Given the description of an element on the screen output the (x, y) to click on. 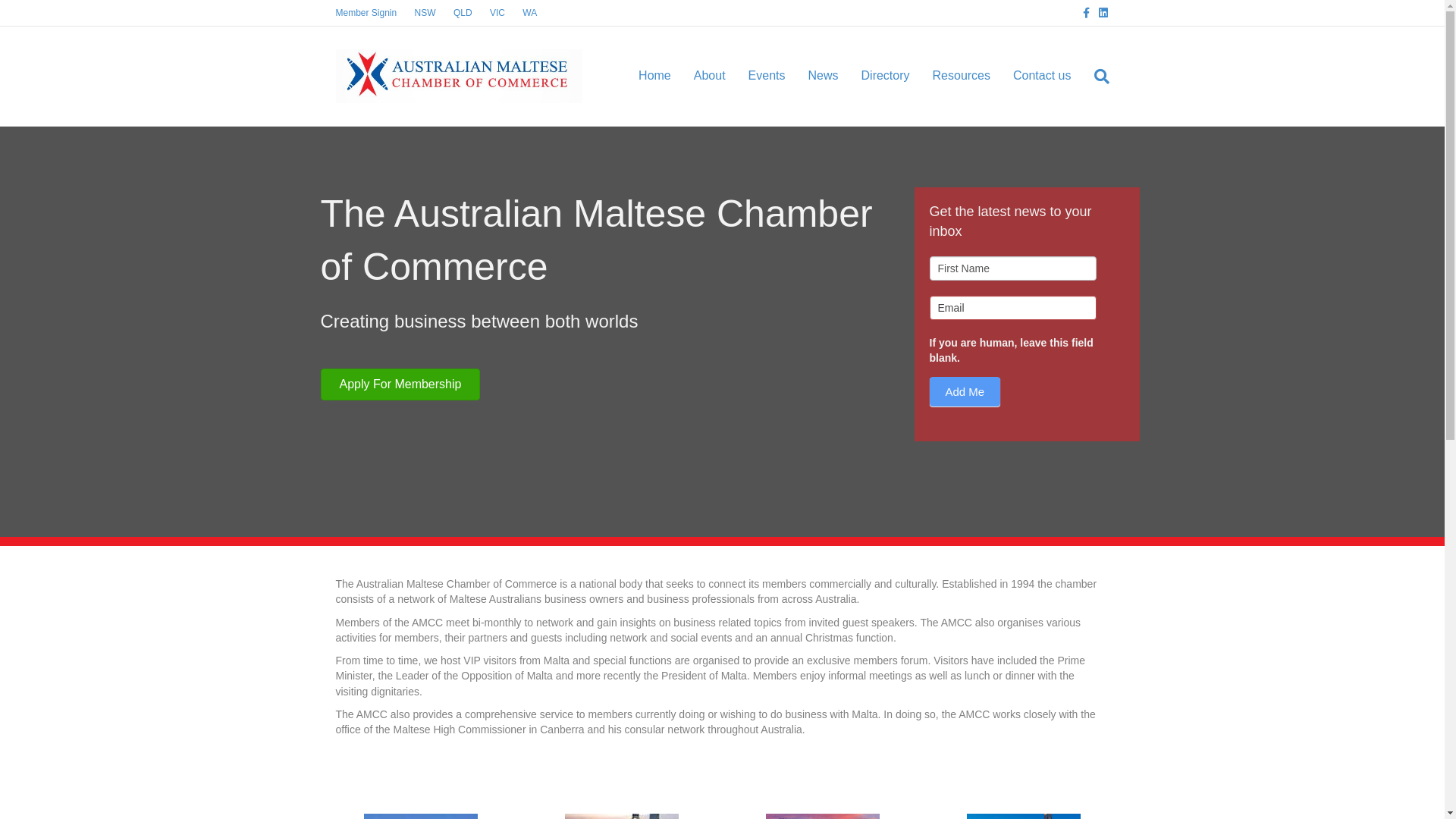
Contact us Element type: text (1041, 75)
QLD Element type: text (462, 12)
Events Element type: text (767, 75)
Member Signin Element type: text (365, 12)
WA Element type: text (529, 12)
Home Element type: text (654, 75)
News Element type: text (822, 75)
VIC Element type: text (497, 12)
Directory Element type: text (885, 75)
Linkedin Element type: text (1097, 11)
About Element type: text (709, 75)
Resources Element type: text (961, 75)
Add Me Element type: text (965, 391)
NSW Element type: text (425, 12)
Facebook Element type: text (1079, 11)
Apply For Membership Element type: text (400, 384)
